Given the description of an element on the screen output the (x, y) to click on. 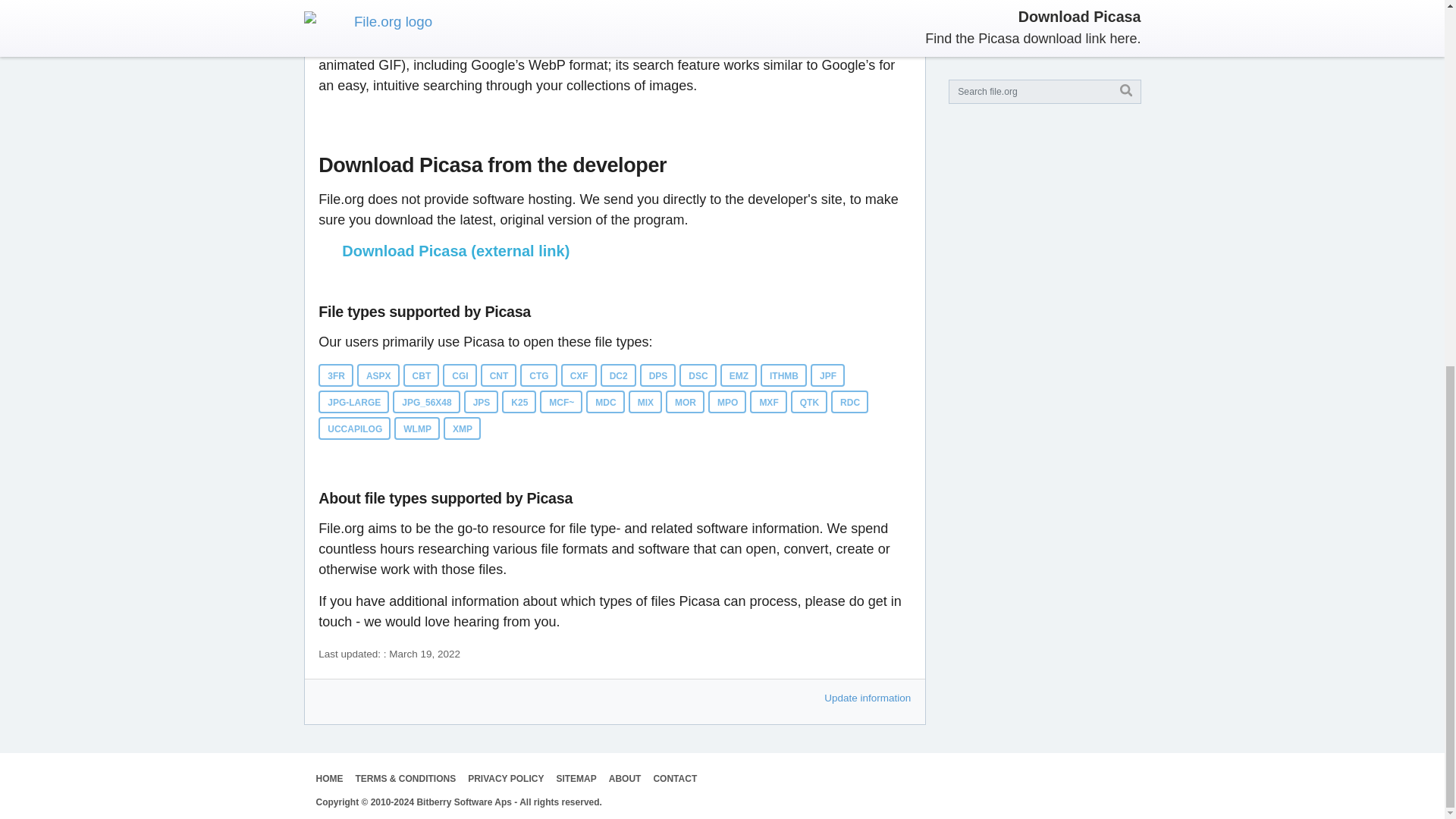
MOR (684, 401)
RDC (849, 401)
JPS (481, 401)
WLMP (416, 427)
JPG-LARGE (353, 401)
CNT (498, 374)
QTK (808, 401)
Update information (867, 697)
EMZ (738, 374)
ASPX (377, 374)
